Given the description of an element on the screen output the (x, y) to click on. 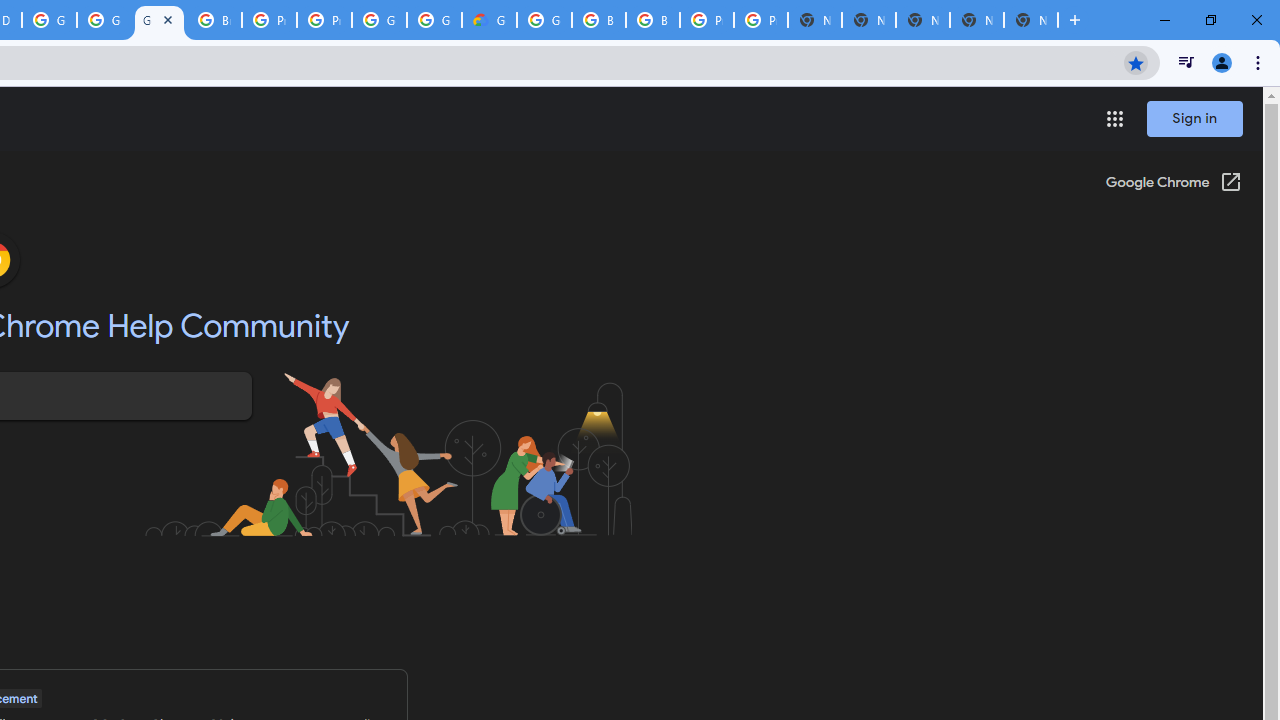
New Tab (1030, 20)
Google Cloud Platform (544, 20)
Google Chrome (Open in a new window) (1173, 183)
Google Chrome Community (158, 20)
Google Cloud Platform (48, 20)
